Given the description of an element on the screen output the (x, y) to click on. 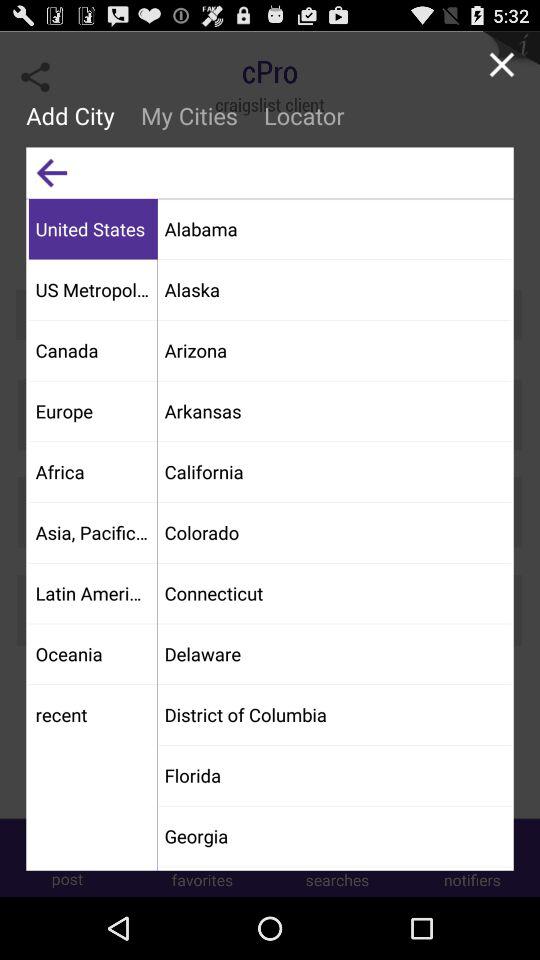
jump until the add city item (76, 115)
